Given the description of an element on the screen output the (x, y) to click on. 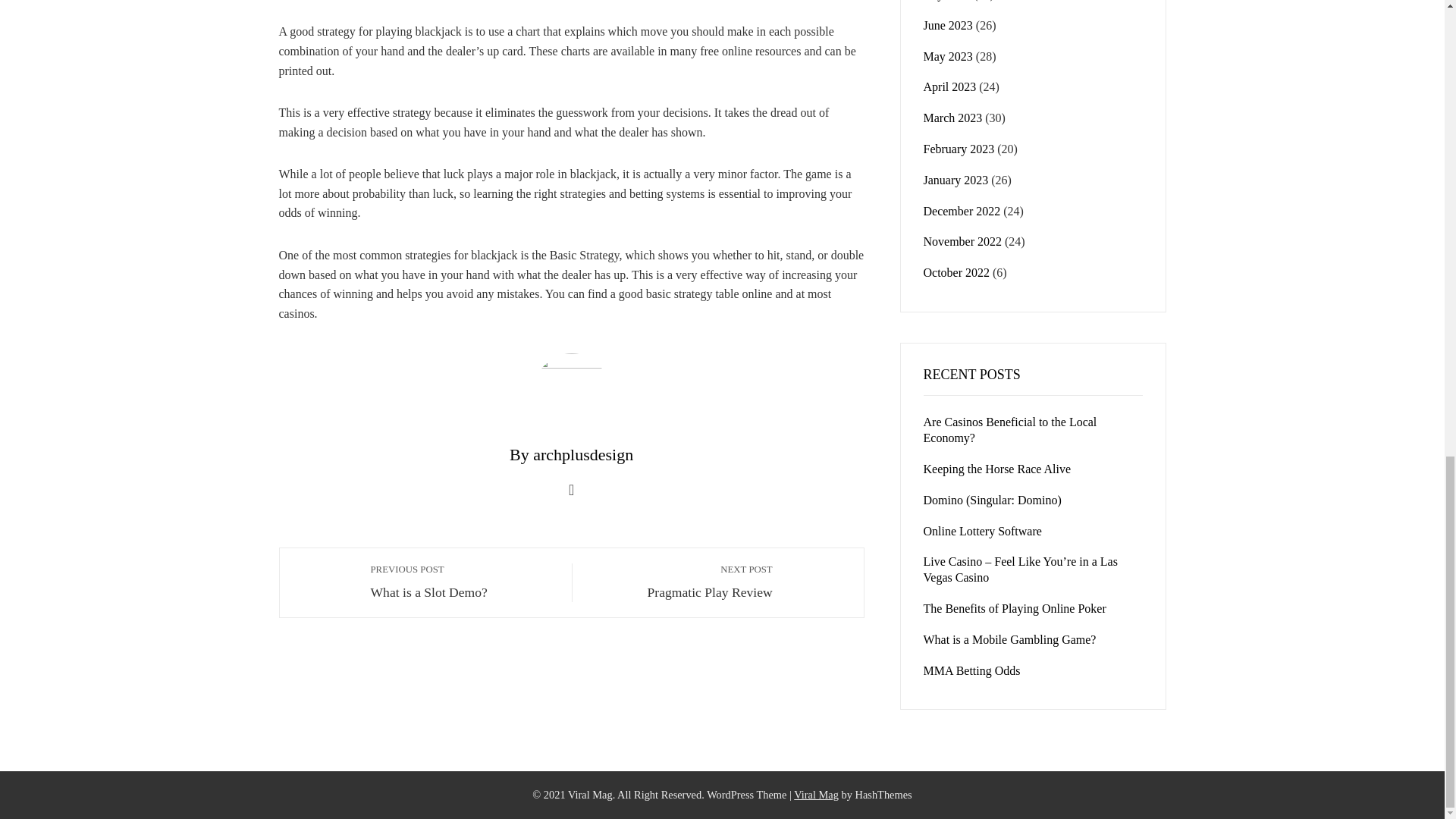
Download Viral News (680, 581)
May 2023 (815, 794)
July 2023 (947, 56)
June 2023 (947, 0)
April 2023 (947, 24)
